Given the description of an element on the screen output the (x, y) to click on. 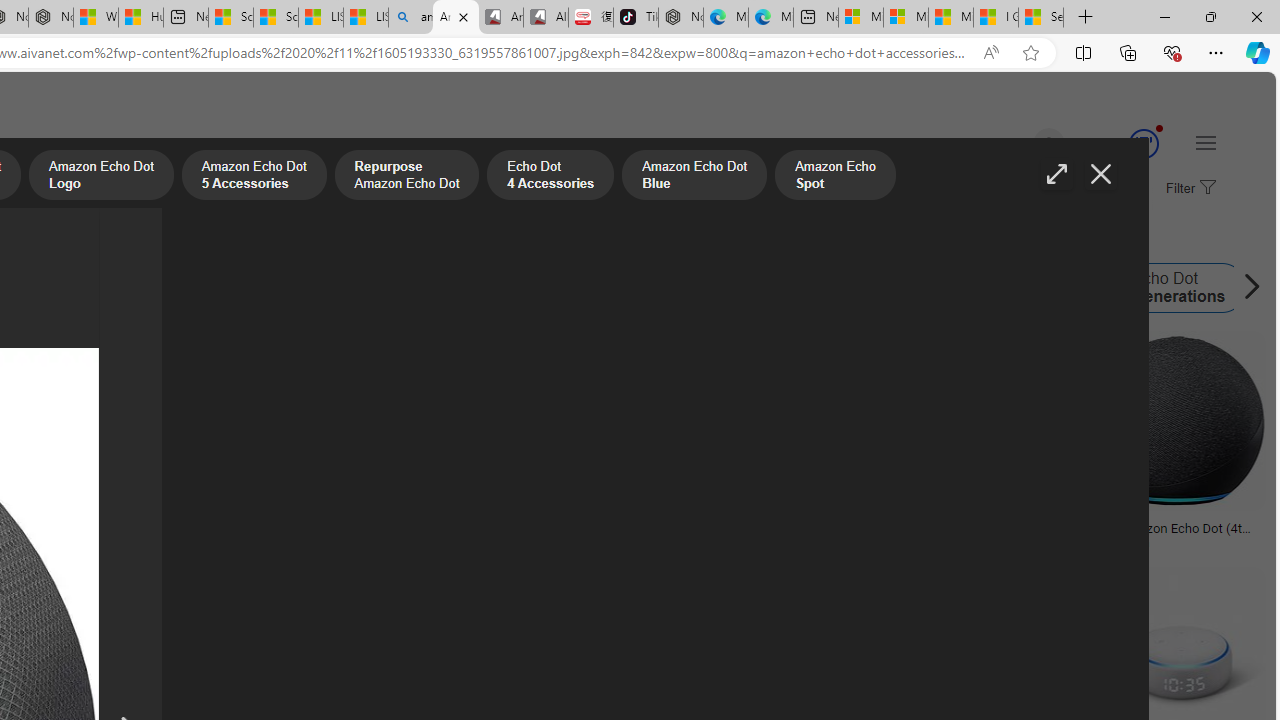
Alexa Echo Png Pic Png Arts Imagestpsearchtool.comSave (347, 444)
Amazon Echo Spot (770, 287)
Amazon Echo Plus (525, 287)
Close image (1100, 173)
Amazon Echo Plus (587, 287)
Amazon Echo Dot 3 (891, 287)
pngkey.com (544, 541)
